Given the description of an element on the screen output the (x, y) to click on. 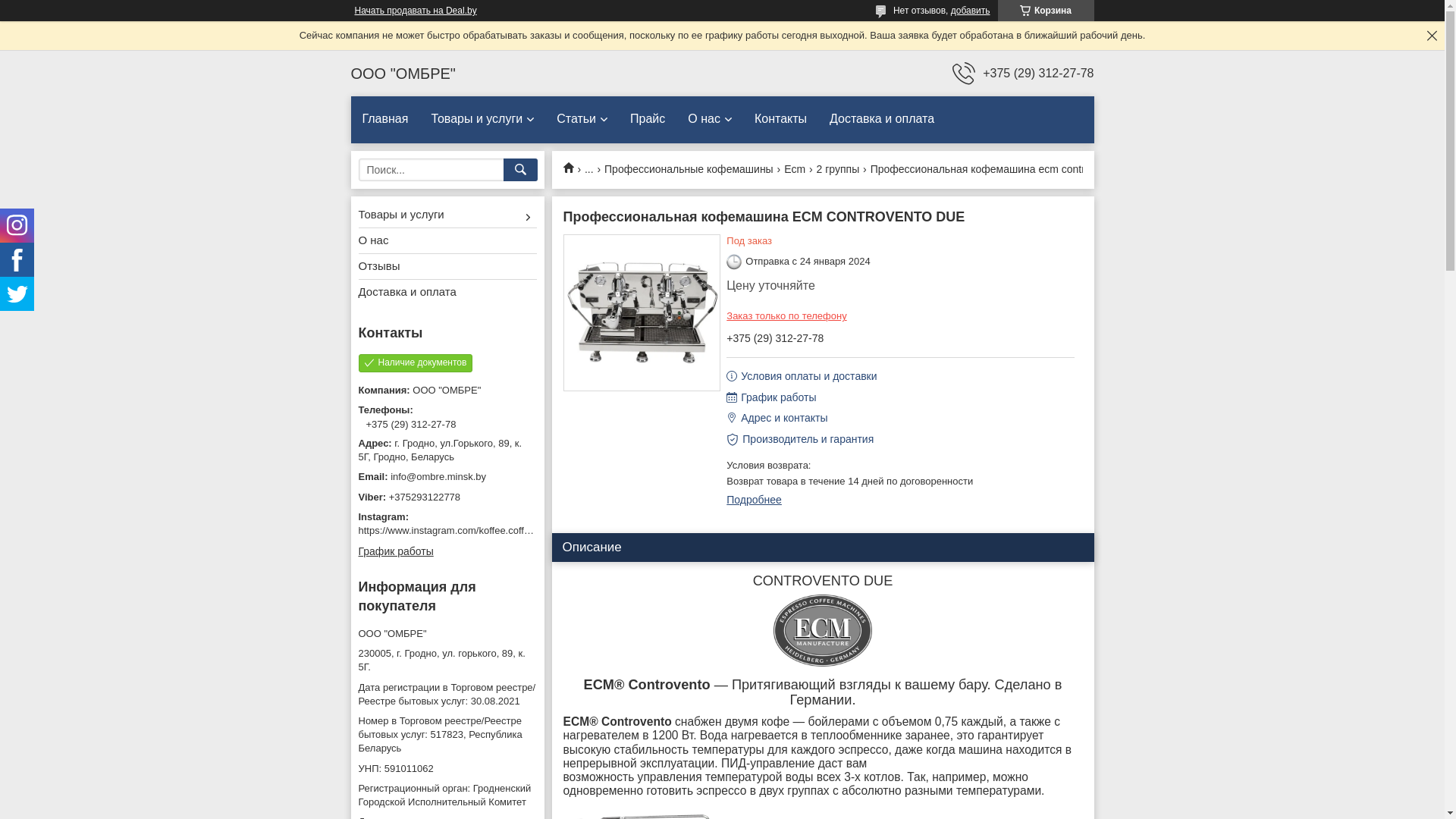
info@ombre.minsk.by Element type: text (446, 476)
https://www.instagram.com/koffee.coffeemachines/?hl=ru Element type: text (482, 530)
Ecm Element type: text (794, 169)
